Given the description of an element on the screen output the (x, y) to click on. 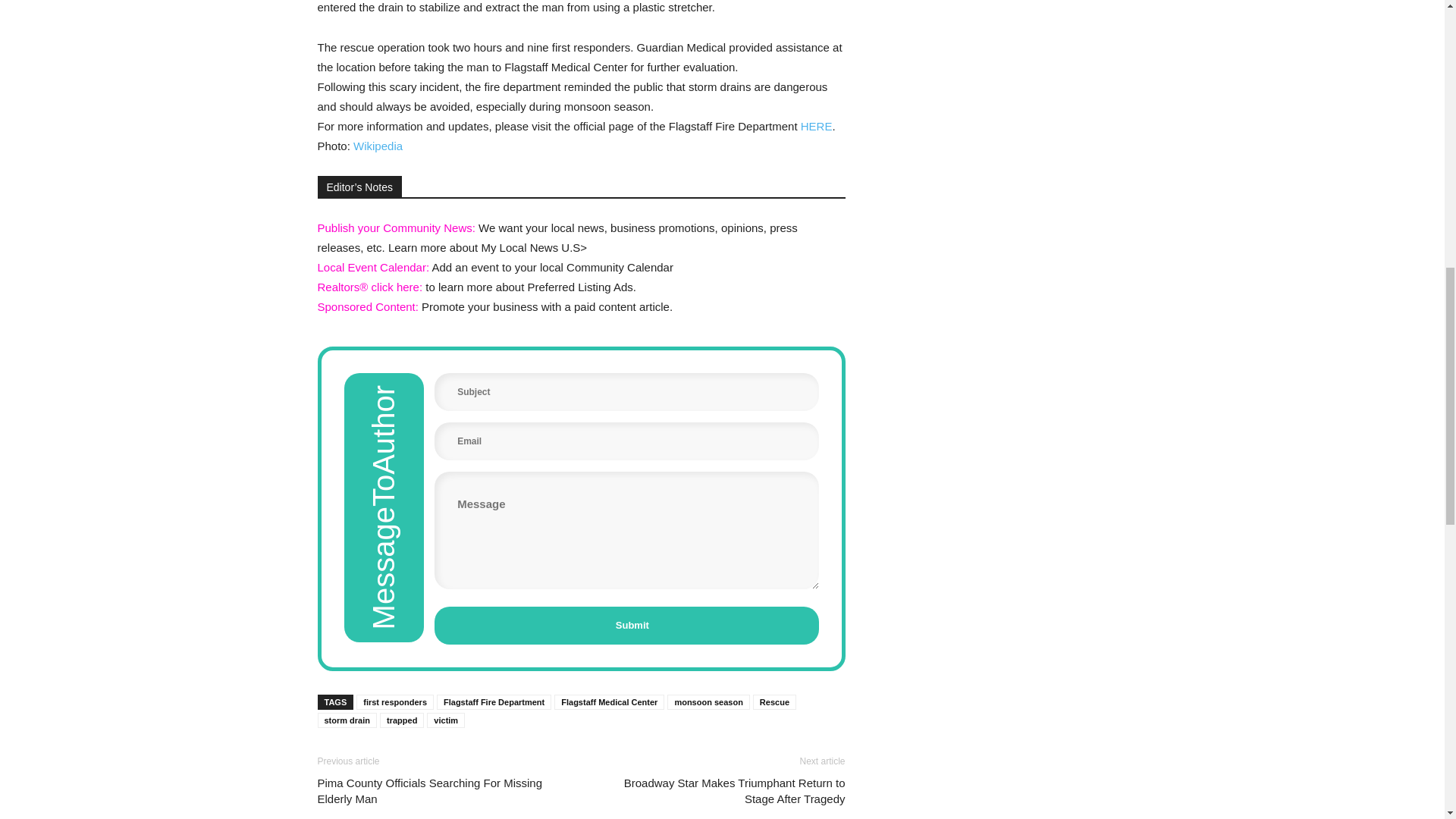
Submit (625, 625)
